Given the description of an element on the screen output the (x, y) to click on. 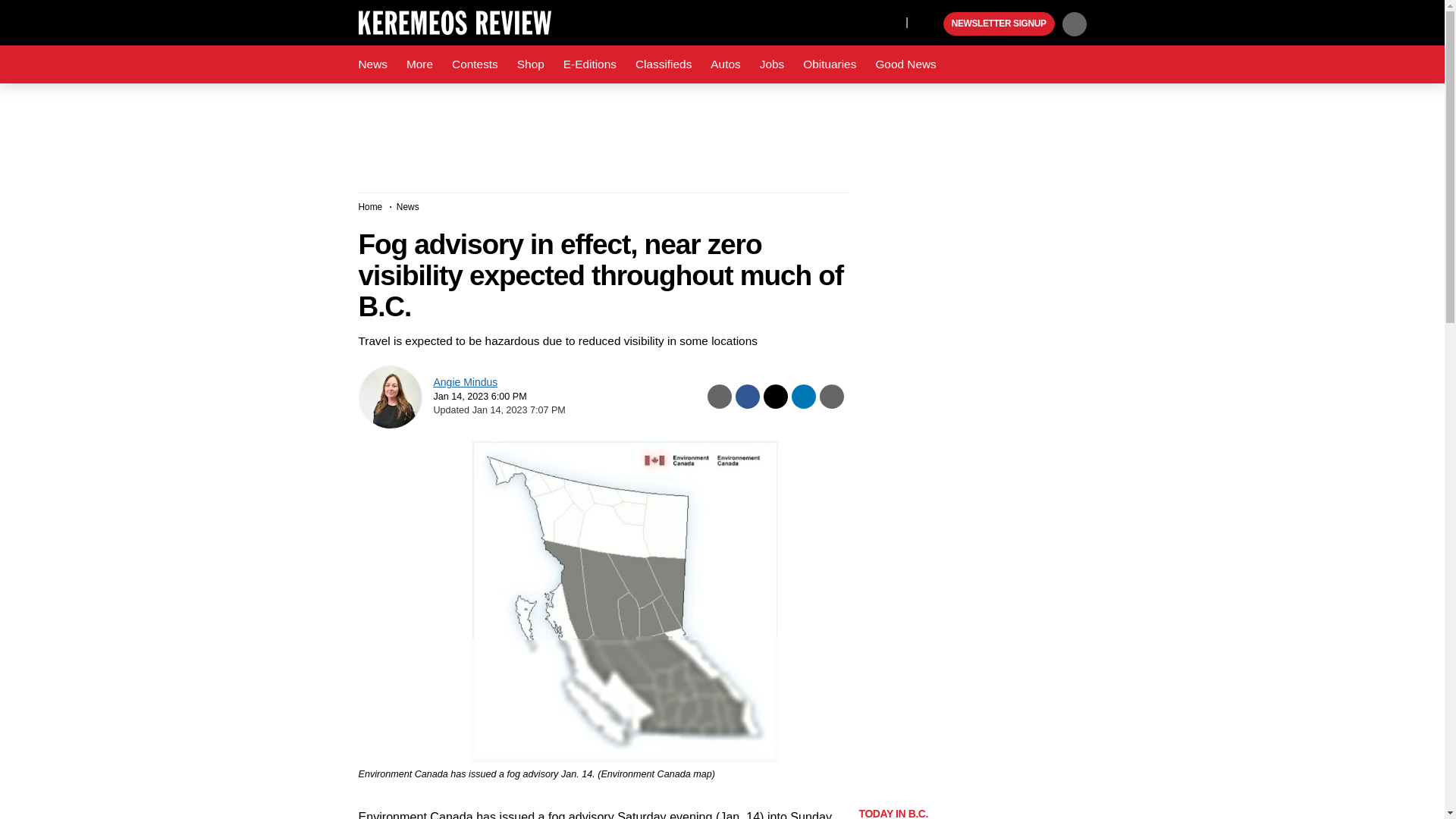
NEWSLETTER SIGNUP (998, 24)
Play (929, 24)
X (889, 21)
Black Press Media (929, 24)
News (372, 64)
